Given the description of an element on the screen output the (x, y) to click on. 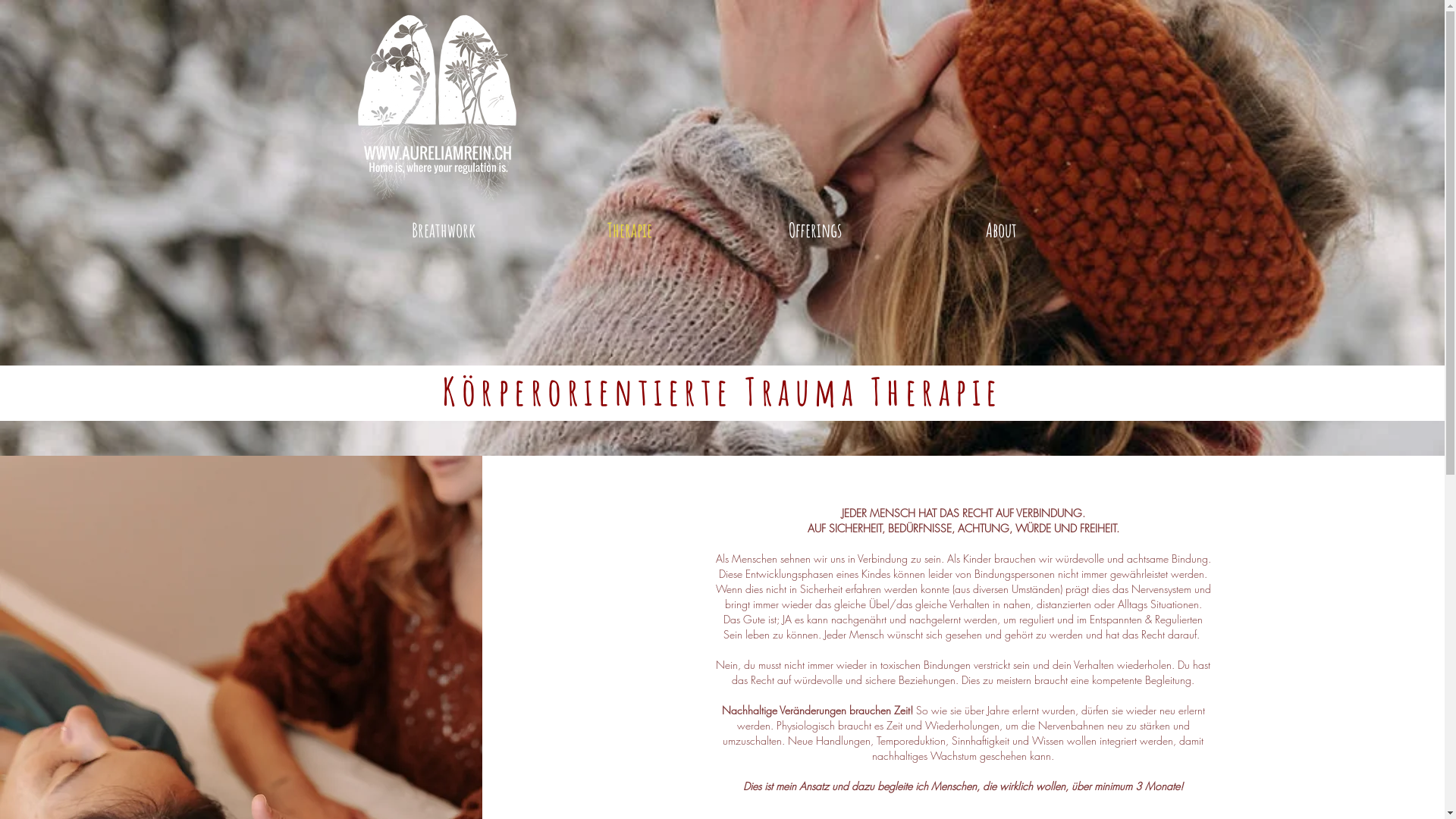
Therapie Element type: text (629, 230)
Offerings Element type: text (814, 230)
Breathwork Element type: text (443, 230)
About Element type: text (1001, 230)
